Given the description of an element on the screen output the (x, y) to click on. 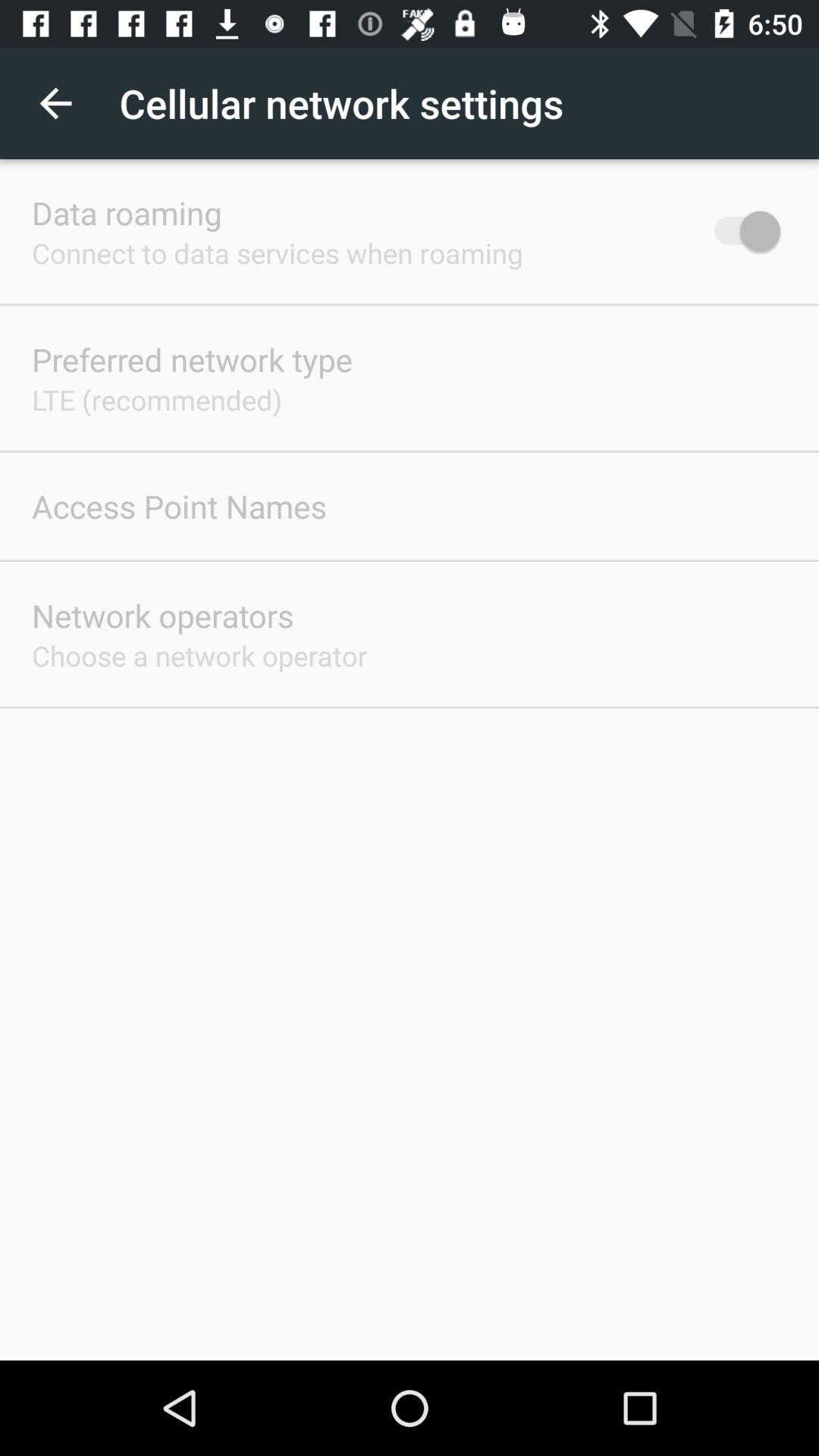
launch icon below the lte (recommended) app (179, 505)
